Given the description of an element on the screen output the (x, y) to click on. 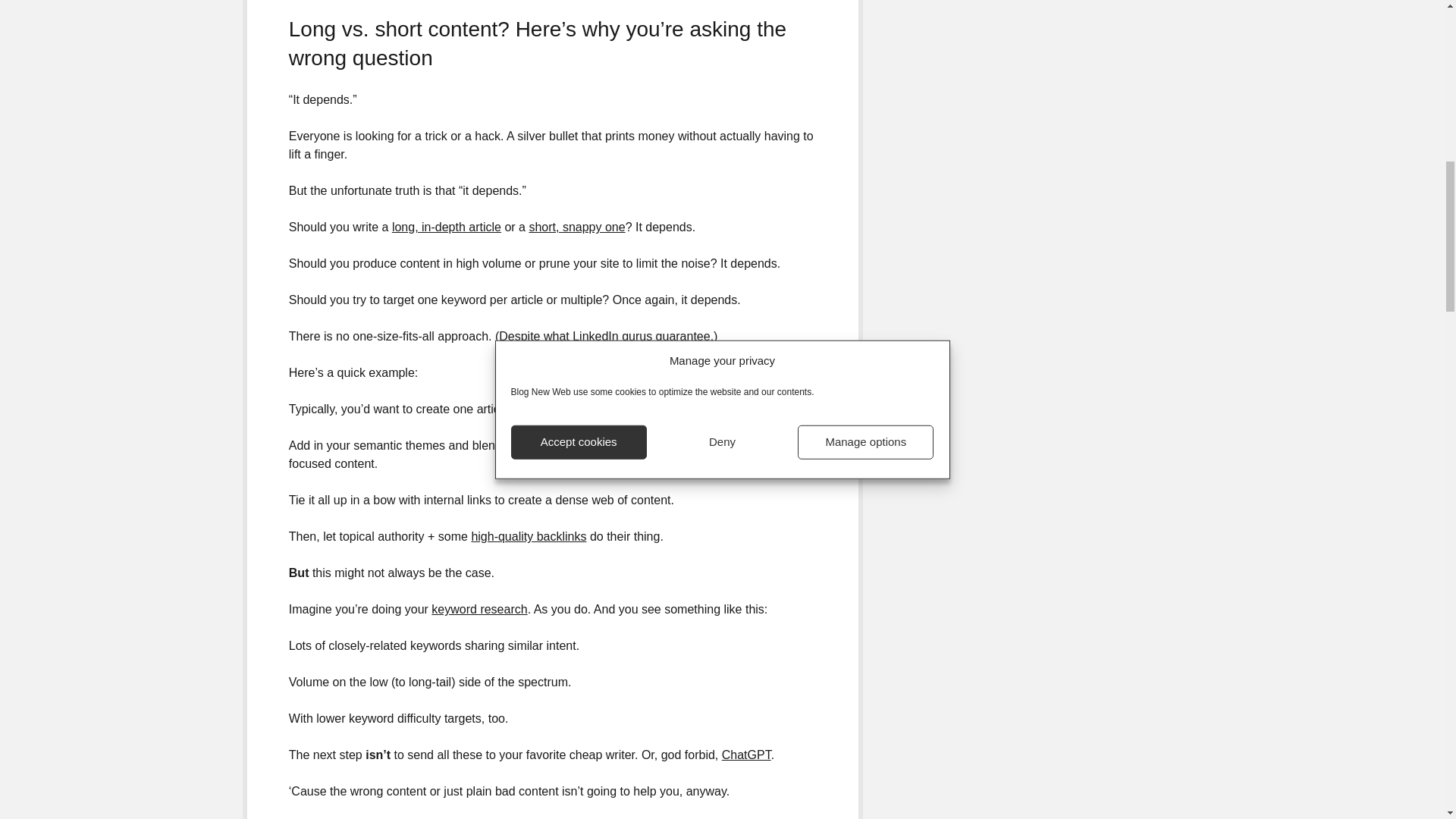
keyword research (478, 608)
long, in-depth article (445, 226)
high-quality backlinks (528, 535)
ChatGPT (746, 754)
short, snappy one (576, 226)
